Given the description of an element on the screen output the (x, y) to click on. 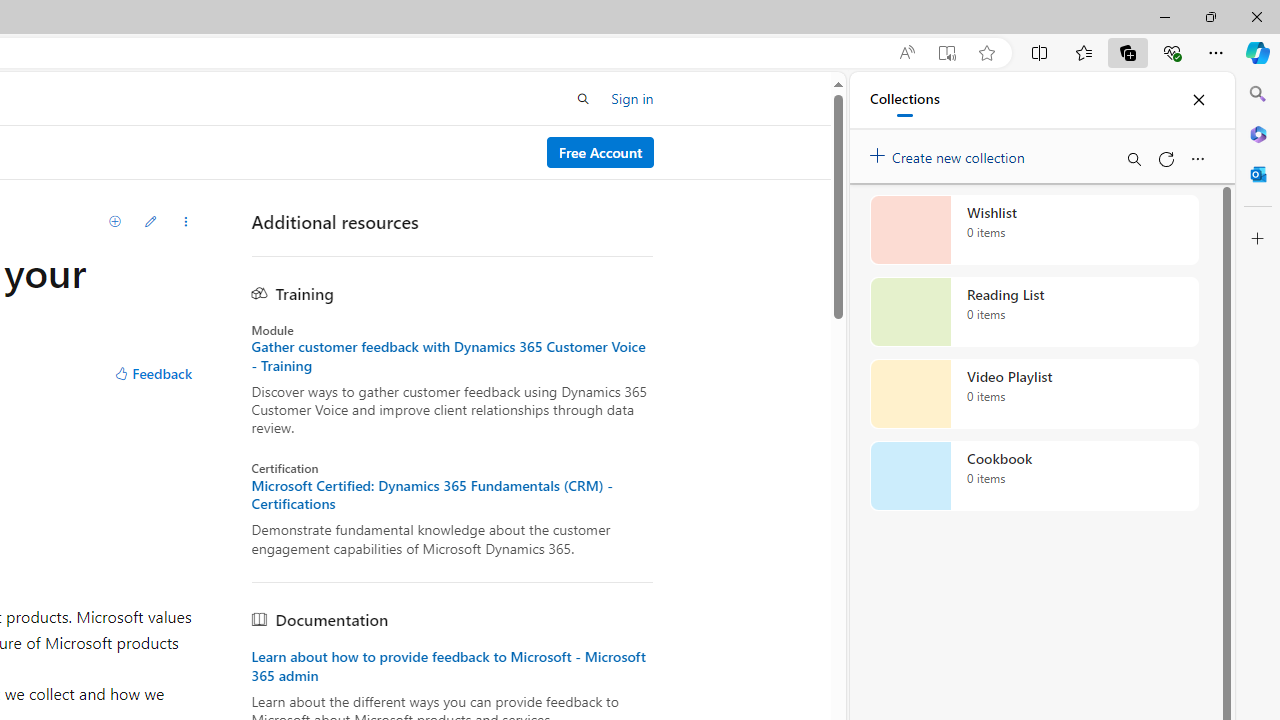
Cookbook collection, 0 items (1034, 475)
Favorites (1083, 52)
Refresh (1165, 158)
Reading List collection, 0 items (1034, 312)
More options menu (1197, 158)
Create new collection (950, 153)
Split screen (1039, 52)
Read aloud this page (Ctrl+Shift+U) (906, 53)
Outlook (1258, 174)
Copilot (Ctrl+Shift+.) (1258, 52)
Free Account (600, 152)
Wishlist collection, 0 items (1034, 229)
